Given the description of an element on the screen output the (x, y) to click on. 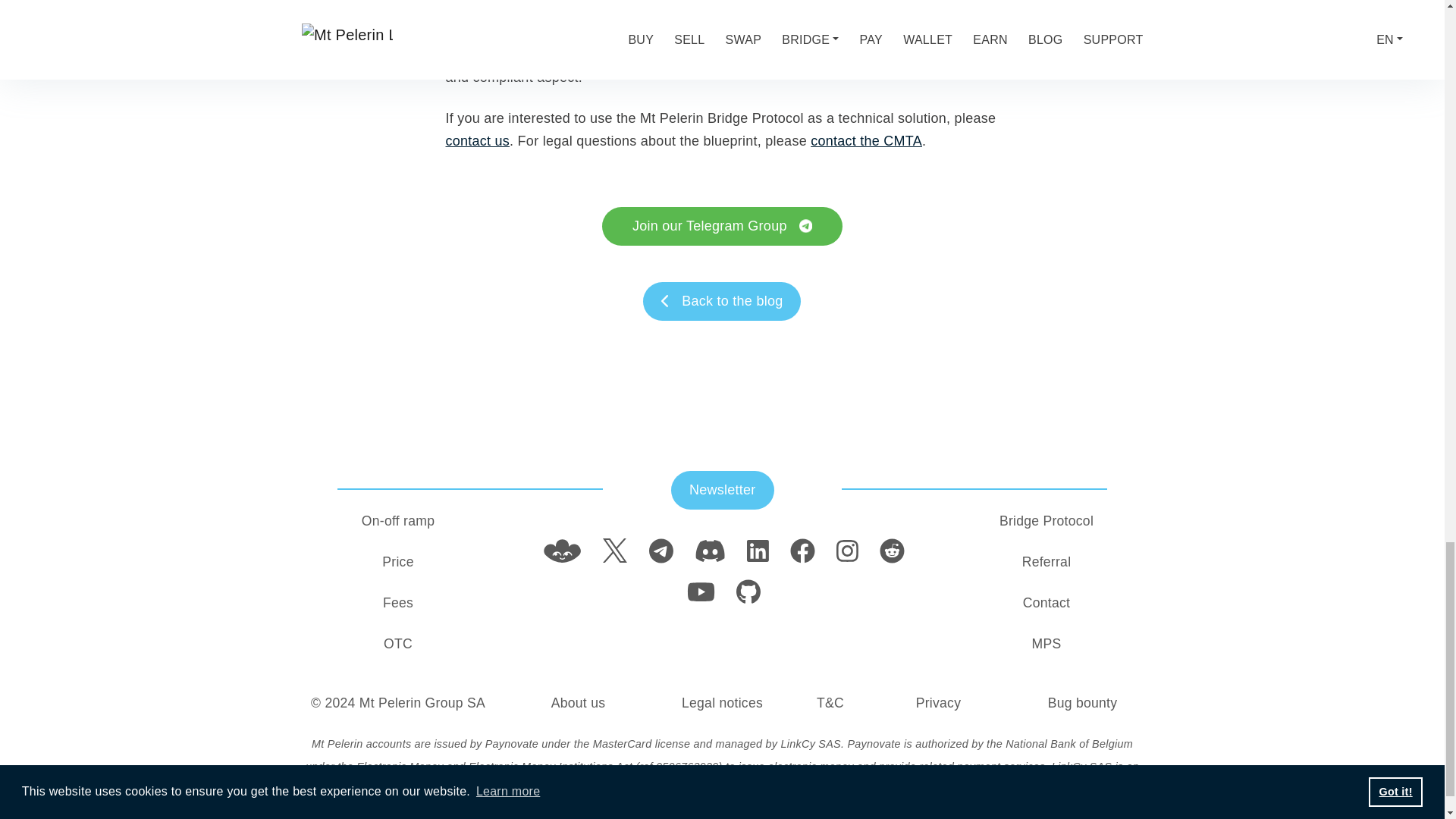
Back to the blog (721, 301)
Join our Telegram Group (722, 226)
Newsletter (722, 489)
Mt Pelerin Bridge Protocol (719, 43)
contact us (478, 140)
contact the CMTA (865, 140)
for its own fund raising (790, 31)
